Given the description of an element on the screen output the (x, y) to click on. 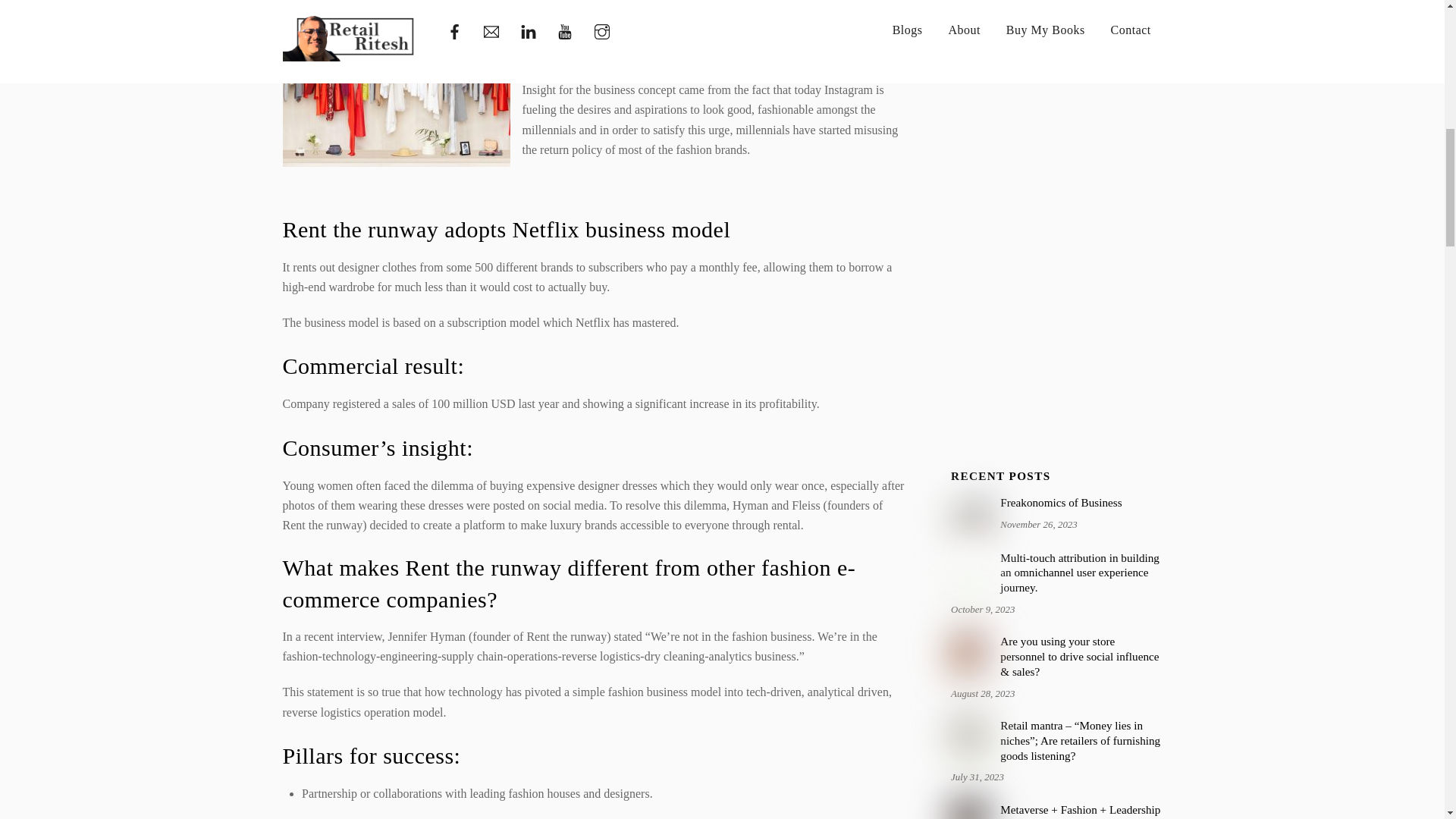
Live shopping (969, 652)
meta verse (969, 810)
MTA (969, 569)
container-store-dorm.jpeg (969, 736)
